Given the description of an element on the screen output the (x, y) to click on. 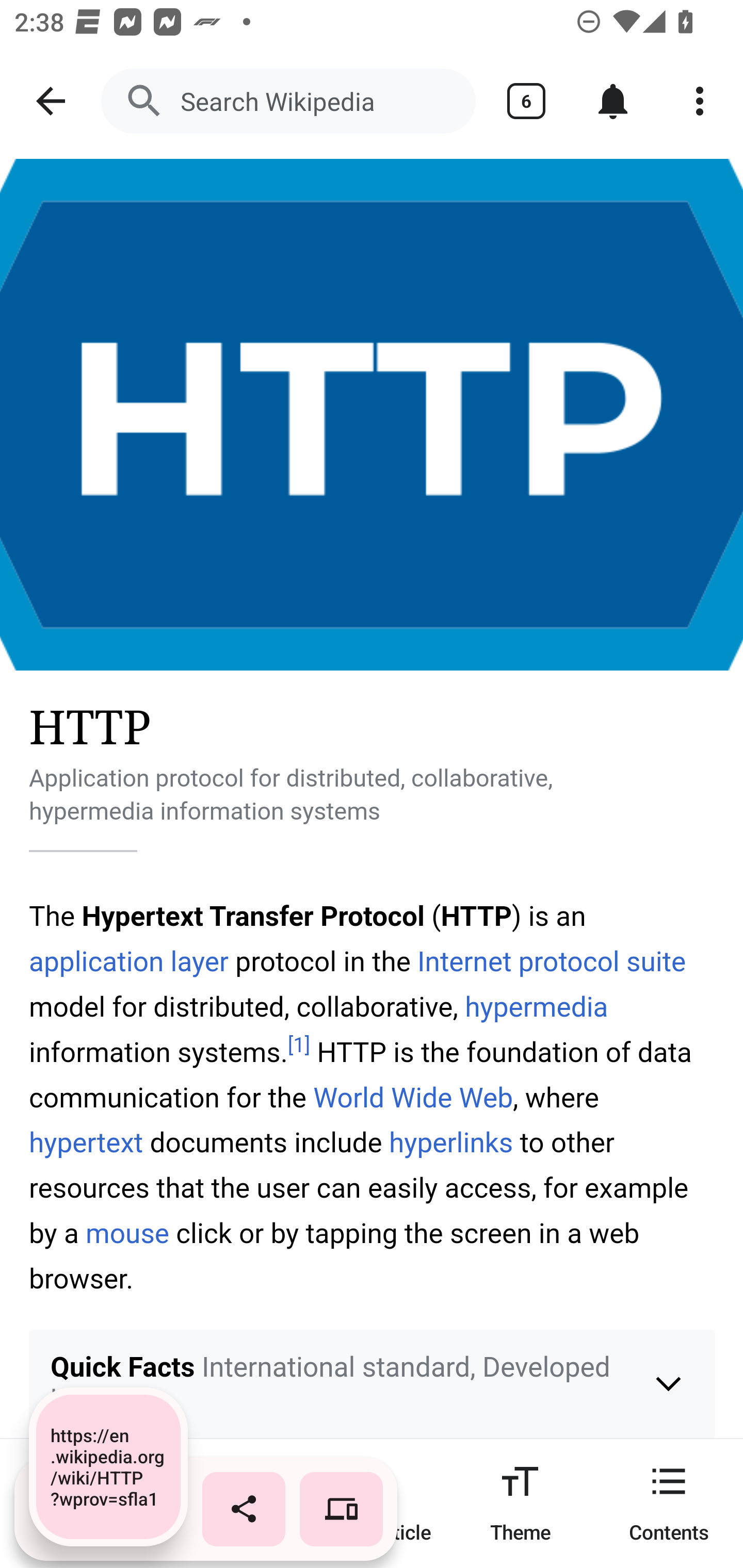
Show tabs 6 (525, 100)
Notifications (612, 100)
Navigate up (50, 101)
More options (699, 101)
Search Wikipedia (288, 100)
Image: HTTP (371, 414)
application layer (128, 961)
Internet protocol suite (552, 961)
hypermedia (535, 1007)
[] [ 1 ] (299, 1045)
World Wide Web (413, 1098)
hypertext (86, 1142)
hyperlinks (450, 1142)
mouse (127, 1233)
Language (222, 1502)
Find in article (371, 1502)
Theme (519, 1502)
Contents (668, 1502)
